Given the description of an element on the screen output the (x, y) to click on. 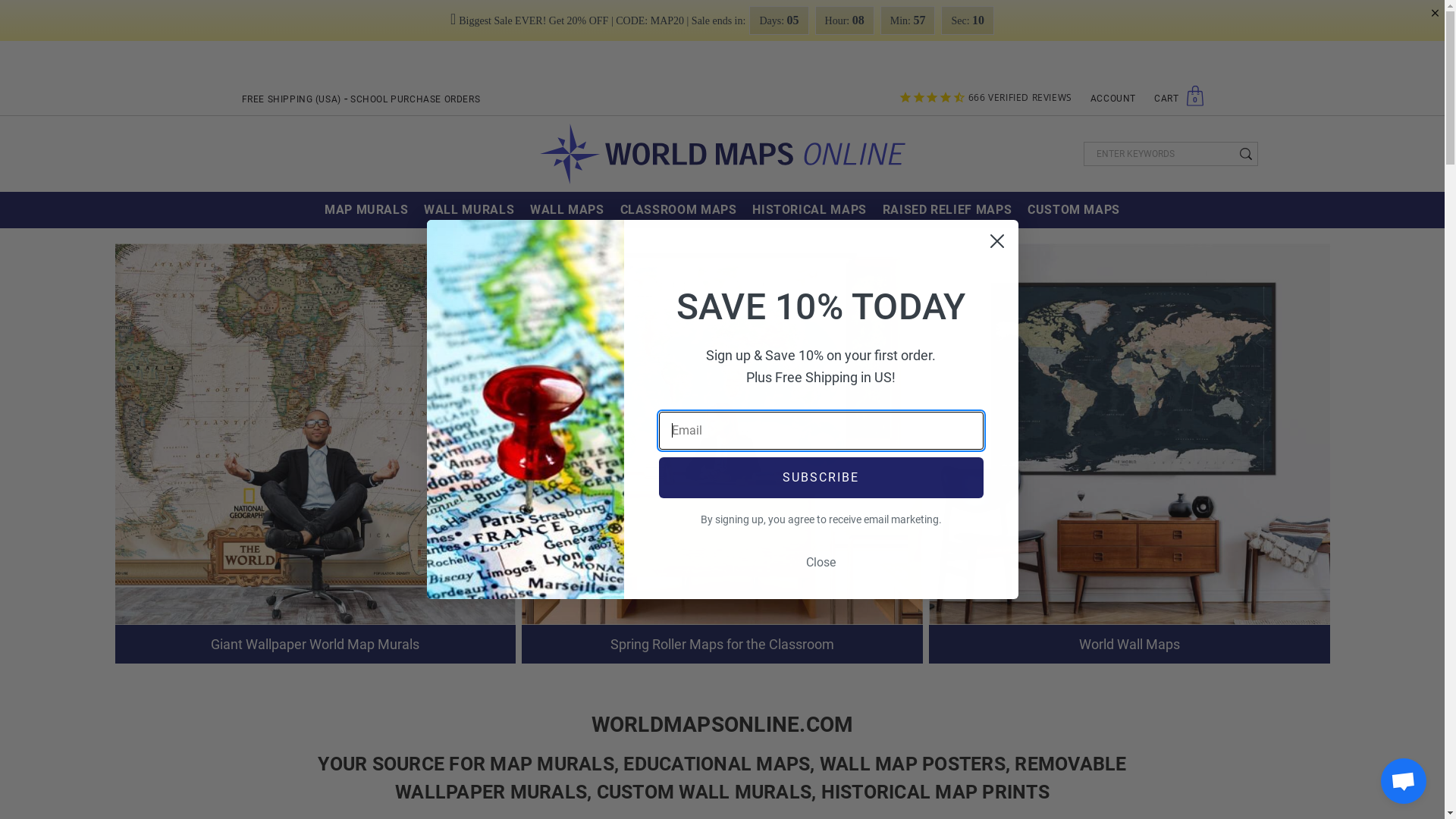
WALL MURALS Element type: text (469, 209)
World Maps Online Element type: hover (721, 153)
World Wall Maps Element type: text (1129, 543)
Spring Roller Maps for the Classroom Element type: text (721, 543)
RAISED RELIEF MAPS Element type: text (946, 209)
WALL MAPS Element type: text (567, 209)
HISTORICAL MAPS Element type: text (809, 209)
SUBSCRIBE Element type: text (820, 476)
FREE SHIPPING (USA) Element type: text (290, 99)
Submit Element type: text (25, 9)
666 VERIFIED REVIEWS Element type: text (985, 98)
CLASSROOM MAPS Element type: text (677, 209)
CUSTOM MAPS Element type: text (1073, 209)
MAP MURALS Element type: text (366, 209)
Giant Wallpaper World Map Murals Element type: text (315, 543)
SCHOOL PURCHASE ORDERS Element type: text (415, 99)
CART
0 Element type: text (1173, 98)
Close Element type: text (820, 561)
ACCOUNT Element type: text (1113, 98)
